Given the description of an element on the screen output the (x, y) to click on. 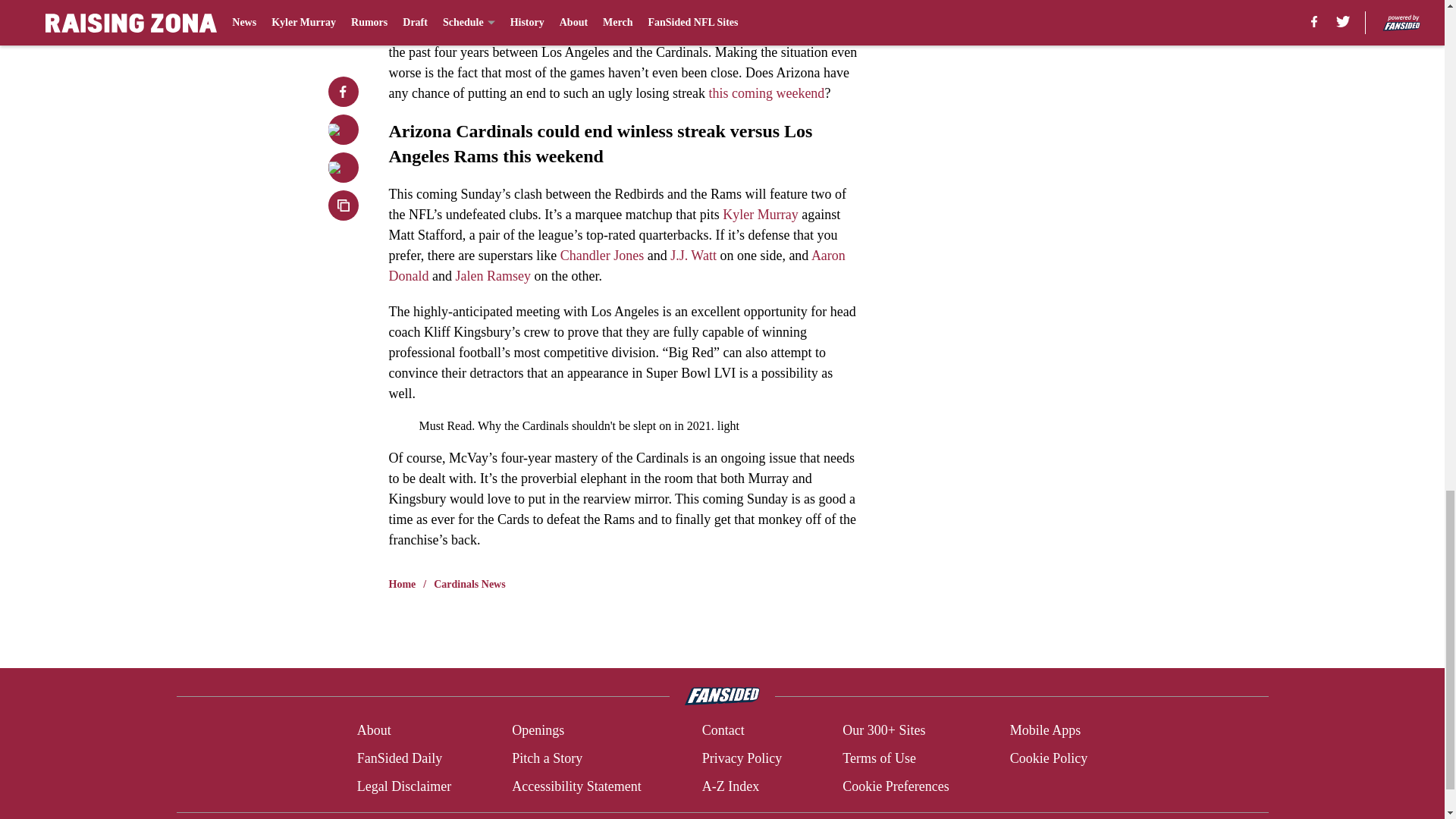
Cookie Policy (1048, 758)
Cardinals News (469, 584)
Chandler Jones (601, 255)
Kyler Murray (759, 214)
Aaron Donald (616, 265)
Openings (538, 730)
Contact (722, 730)
J.J. Watt (692, 255)
this coming weekend (765, 92)
Legal Disclaimer (403, 786)
